Given the description of an element on the screen output the (x, y) to click on. 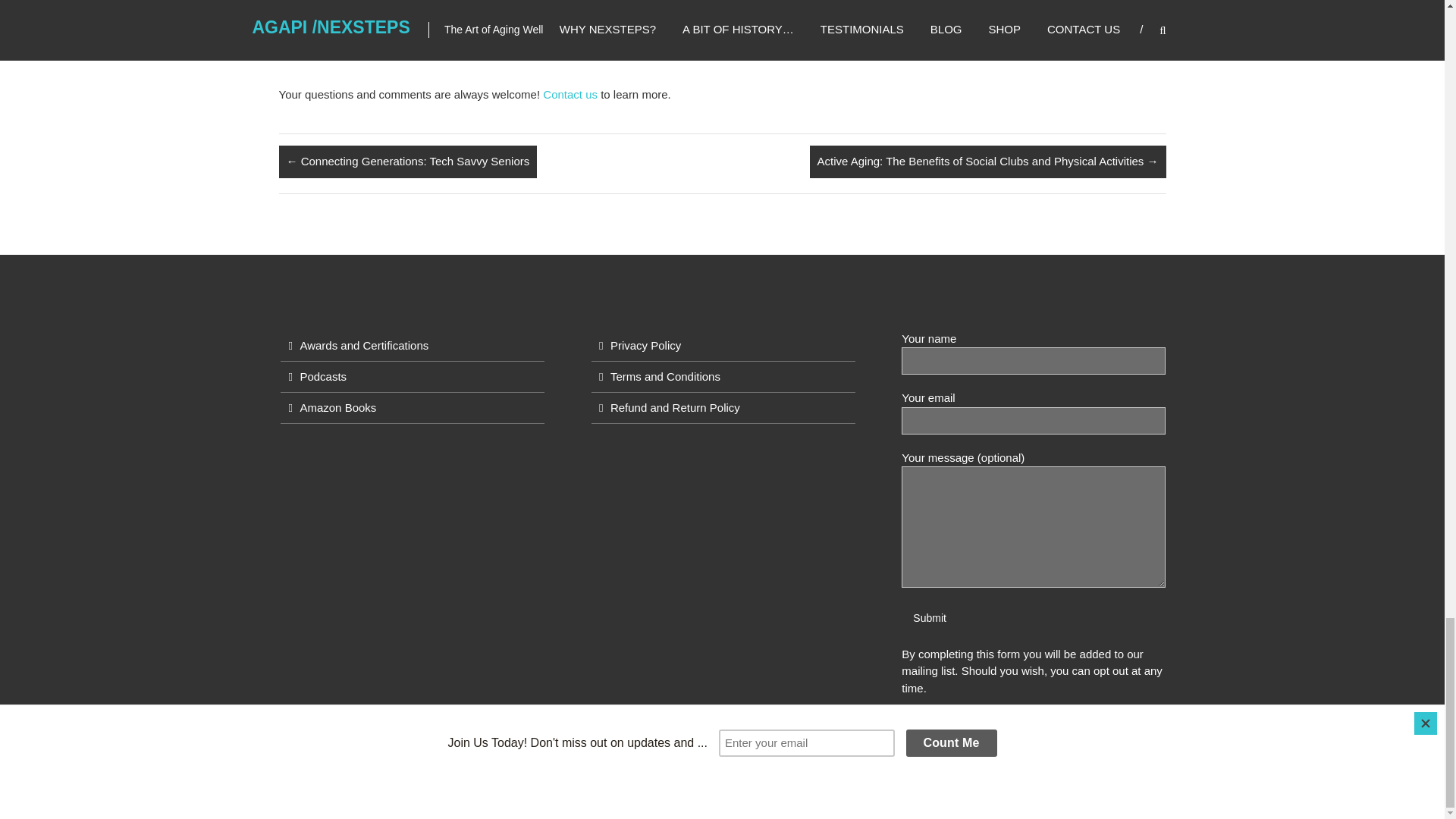
WordPress (638, 801)
Submit (929, 618)
Himalayas (479, 801)
